Given the description of an element on the screen output the (x, y) to click on. 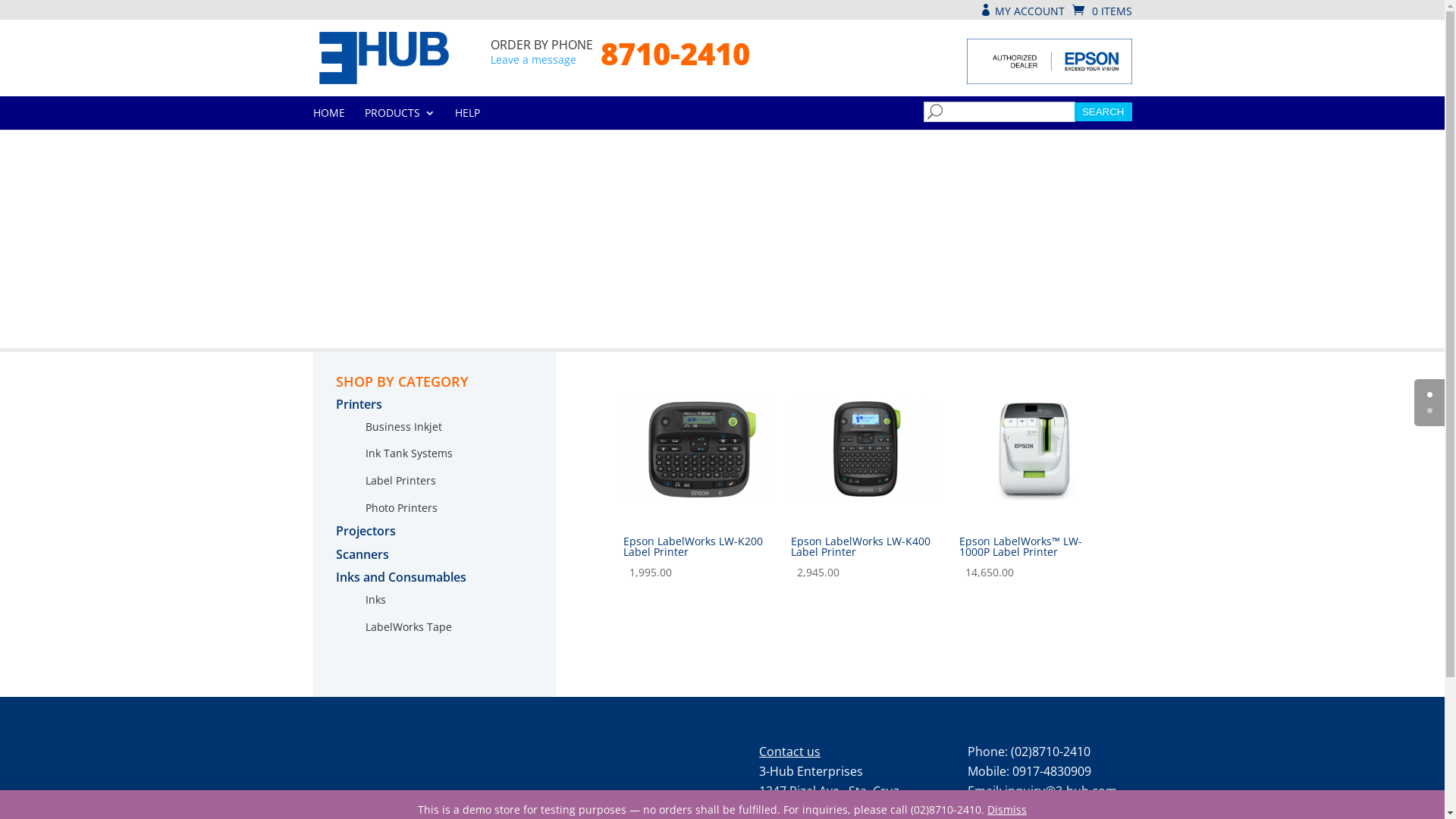
Printers Element type: text (358, 403)
PRODUCTS Element type: text (399, 118)
Business Inkjet Element type: text (403, 426)
MY ACCOUNT Element type: text (1021, 10)
inquiry@3-hub.com Element type: text (1060, 790)
Scanners Element type: text (361, 554)
Inks Element type: text (375, 599)
Label Printers Element type: text (400, 480)
HOME Element type: text (328, 118)
Projectors Element type: text (365, 530)
LabelWorks Tape Element type: text (408, 626)
Search Element type: text (1103, 111)
HELP Element type: text (467, 118)
Inks and Consumables Element type: text (400, 576)
Leave a message Element type: text (533, 59)
Ink Tank Systems Element type: text (408, 452)
1 Element type: text (1429, 410)
Dismiss Element type: text (1006, 809)
Contact us Element type: text (789, 751)
0 ITEMS Element type: text (1102, 10)
Photo Printers Element type: text (401, 507)
0 Element type: text (1429, 394)
